Given the description of an element on the screen output the (x, y) to click on. 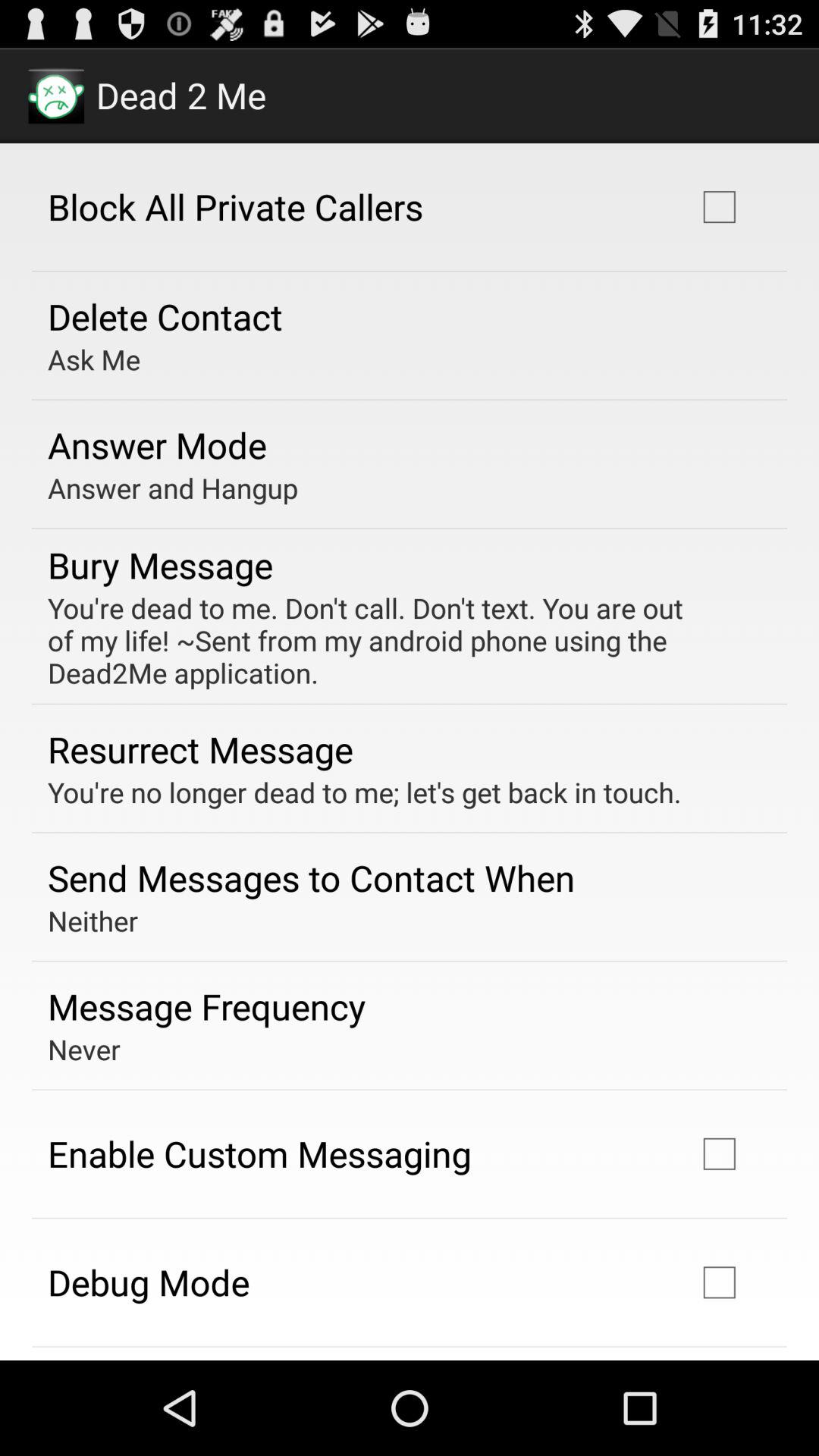
turn off neither app (92, 920)
